Given the description of an element on the screen output the (x, y) to click on. 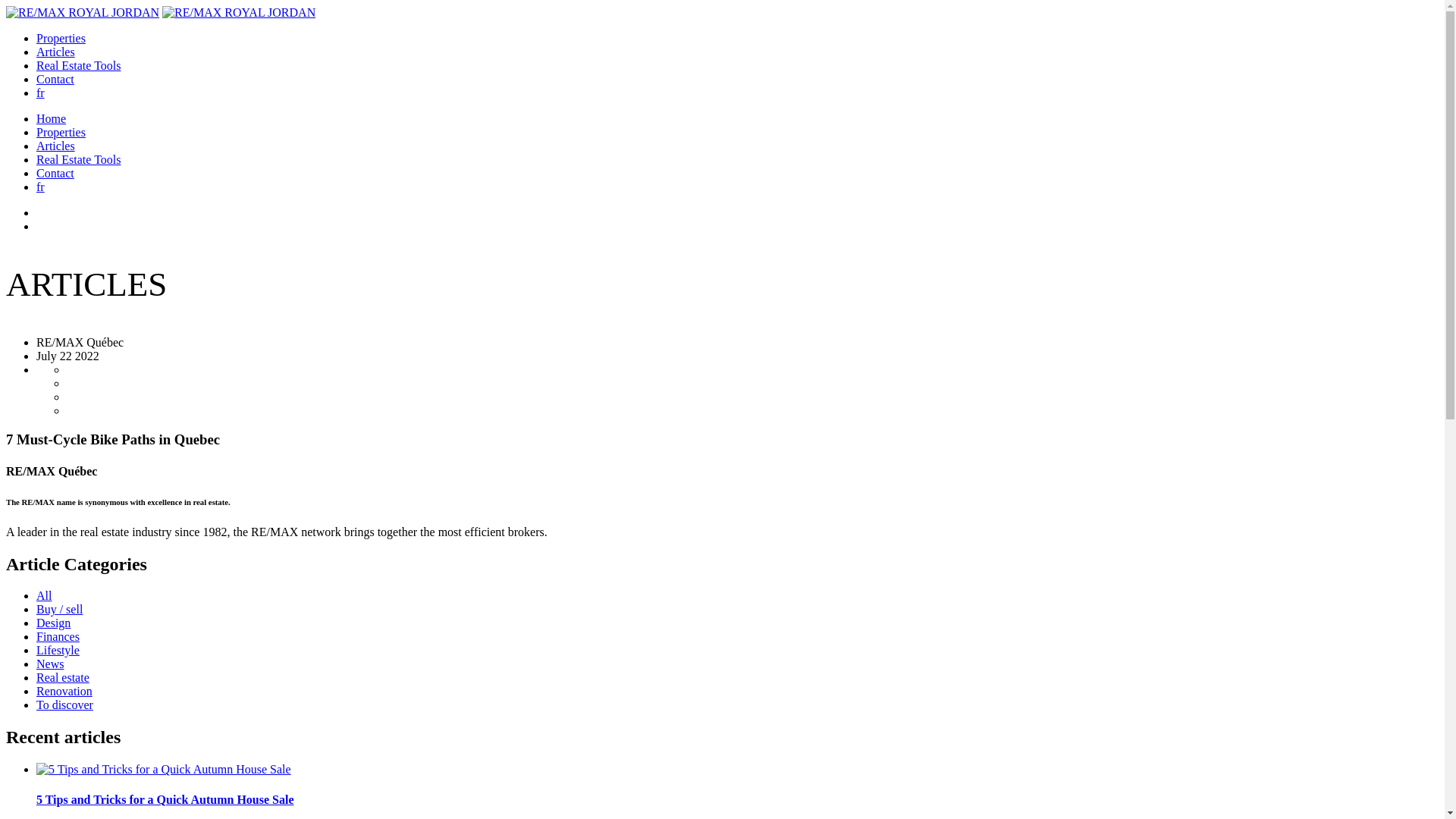
Articles Element type: text (55, 51)
Properties Element type: text (60, 131)
Real estate Element type: text (62, 677)
fr Element type: text (40, 92)
Home Element type: text (50, 118)
Articles Element type: text (55, 145)
Finances Element type: text (57, 636)
Renovation Element type: text (64, 690)
fr Element type: text (40, 186)
Real Estate Tools Element type: text (78, 65)
Buy / sell Element type: text (59, 608)
Properties Element type: text (60, 37)
Real Estate Tools Element type: text (78, 159)
5 Tips and Tricks for a Quick Autumn House Sale Element type: text (737, 799)
Lifestyle Element type: text (57, 649)
To discover Element type: text (64, 704)
Design Element type: text (53, 622)
Contact Element type: text (55, 172)
News Element type: text (49, 663)
All Element type: text (43, 595)
Contact Element type: text (55, 78)
